Given the description of an element on the screen output the (x, y) to click on. 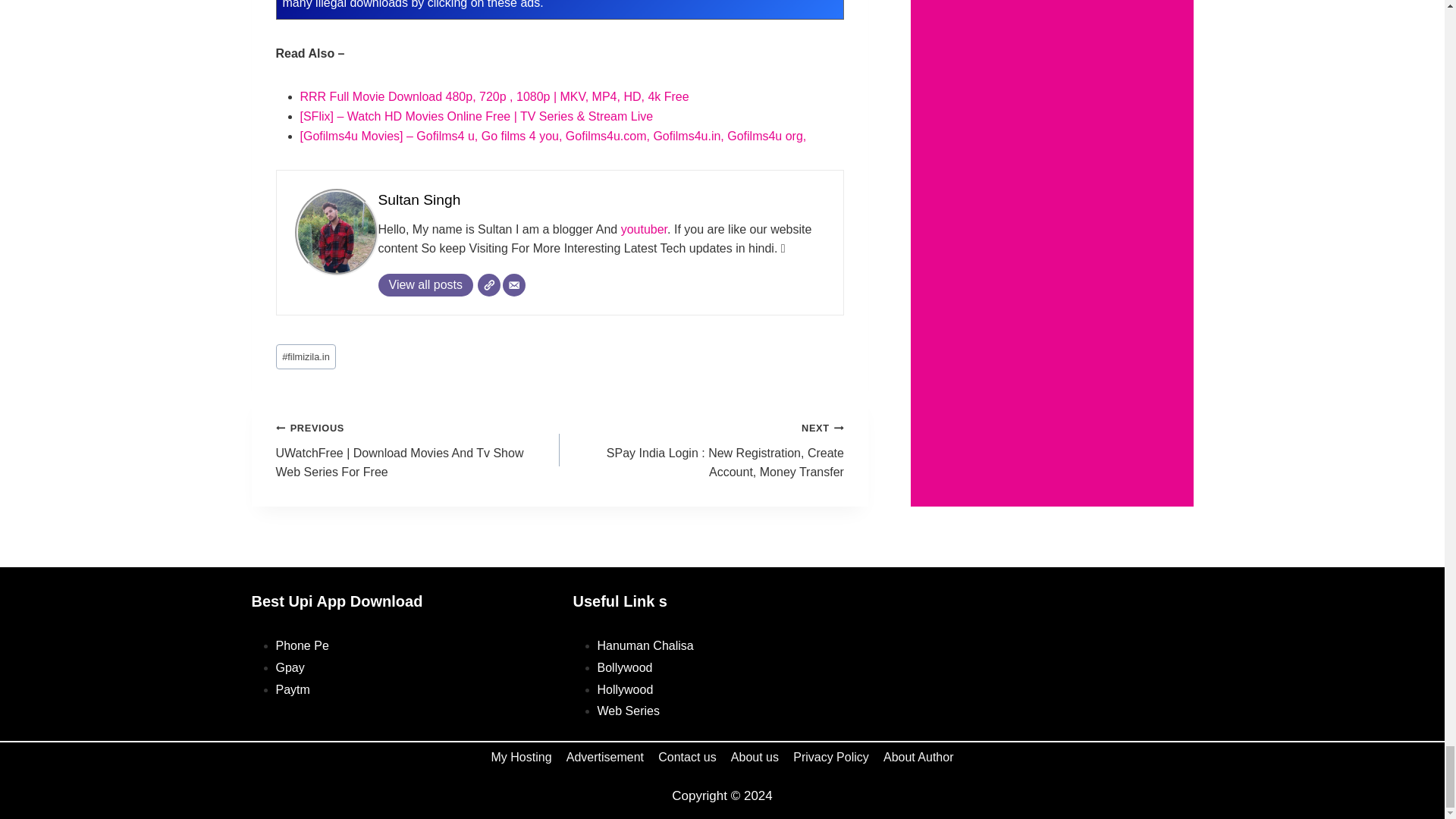
View all posts (425, 284)
Sultan Singh (418, 199)
filmizila.in (306, 356)
